Given the description of an element on the screen output the (x, y) to click on. 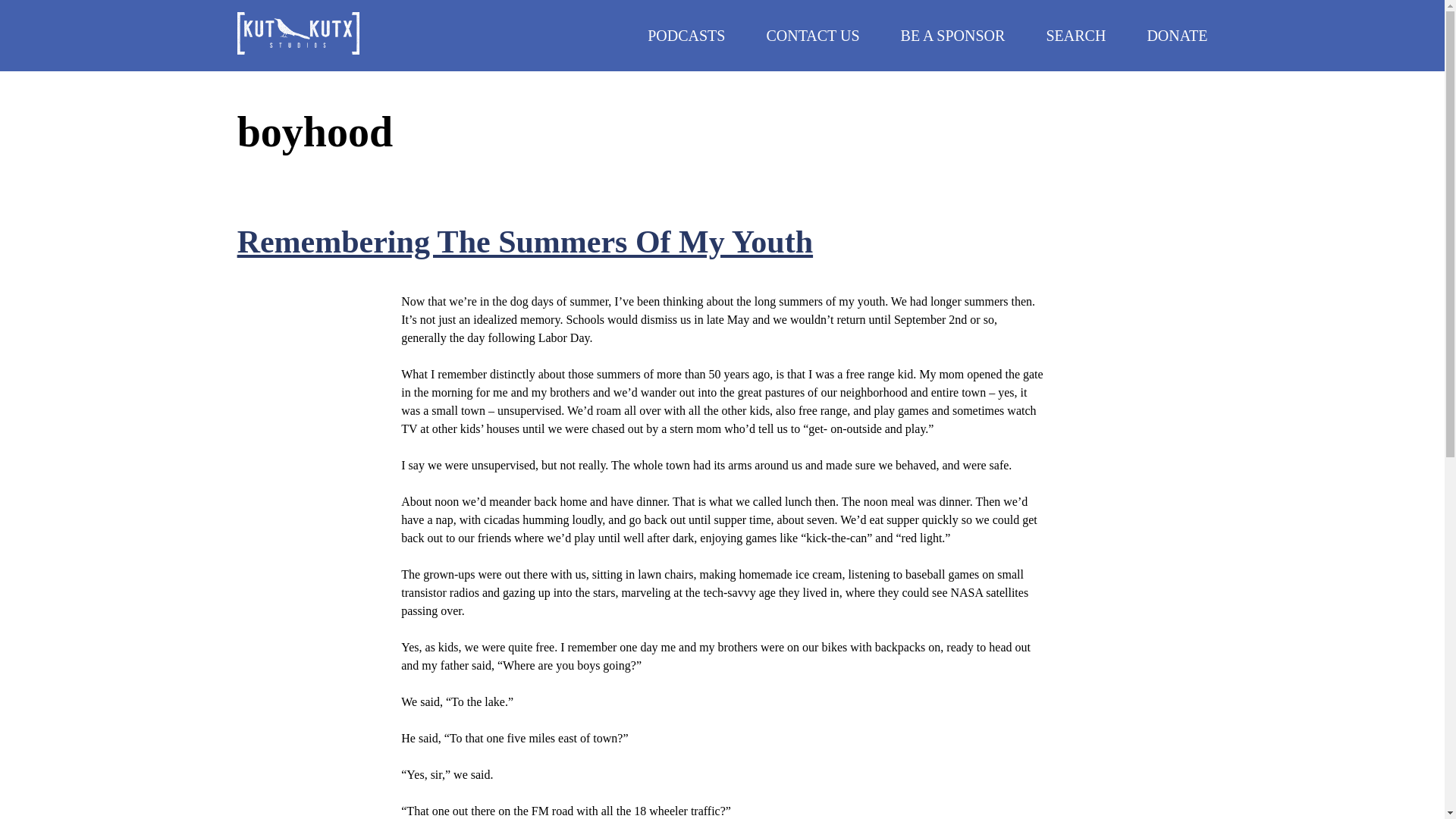
CONTACT US (812, 35)
BE A SPONSOR (953, 35)
DONATE (1177, 35)
SEARCH (1075, 35)
Remembering The Summers Of My Youth (524, 241)
PODCASTS (686, 35)
